Given the description of an element on the screen output the (x, y) to click on. 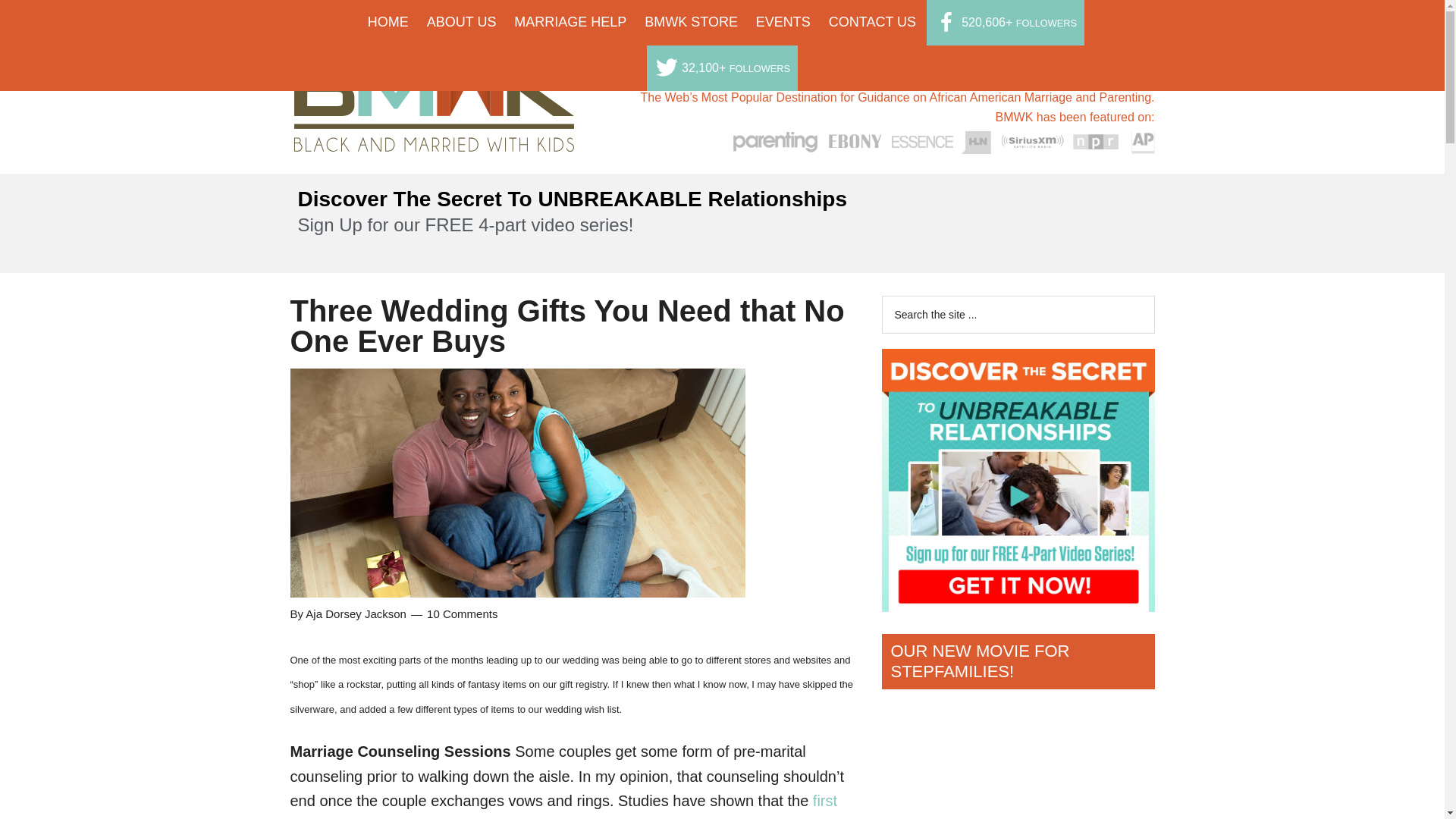
BlackandMarriedWithKids.com (433, 138)
HOME (387, 22)
first two years of marriage are the most critical (563, 805)
CONTACT US (872, 22)
EVENTS (783, 22)
ABOUT US (461, 22)
MARRIAGE HELP (569, 22)
BMWK STORE (691, 22)
10 Comments (461, 613)
Aja Dorsey Jackson (355, 613)
store (691, 22)
